Given the description of an element on the screen output the (x, y) to click on. 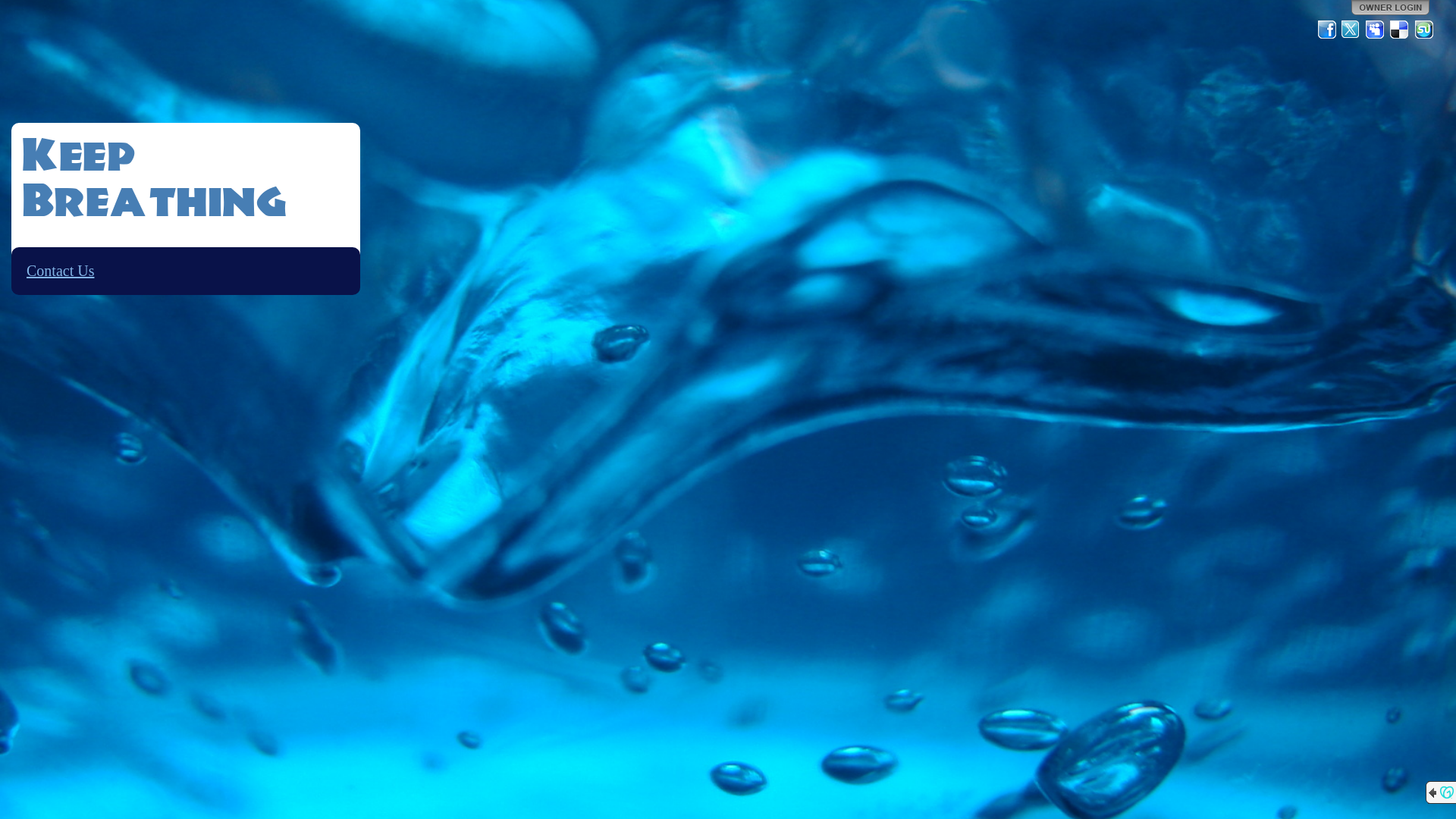
Contact Us Element type: text (60, 270)
StumbleUpon Element type: text (1423, 29)
MySpace Element type: text (1375, 29)
Twitter Element type: text (1350, 29)
Facebook Element type: text (1326, 29)
Del.icio.us Element type: text (1399, 29)
